Given the description of an element on the screen output the (x, y) to click on. 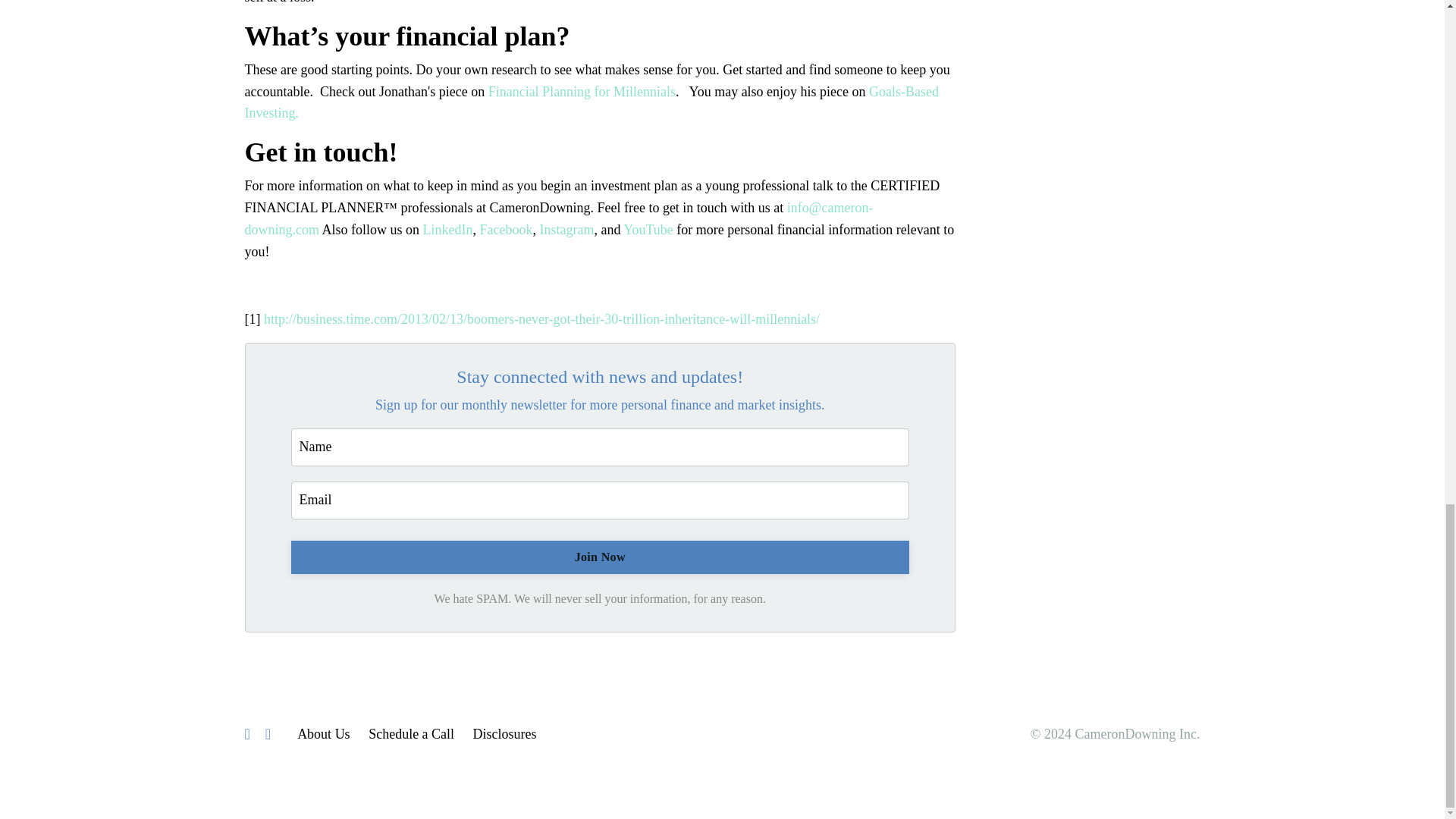
Instagram (566, 229)
Join Now (600, 557)
LinkedIn (448, 229)
Join Now (600, 557)
Goals-Based Investing. (591, 102)
YouTube  (650, 229)
Facebook (505, 229)
Financial Planning for Millennials (581, 91)
